Given the description of an element on the screen output the (x, y) to click on. 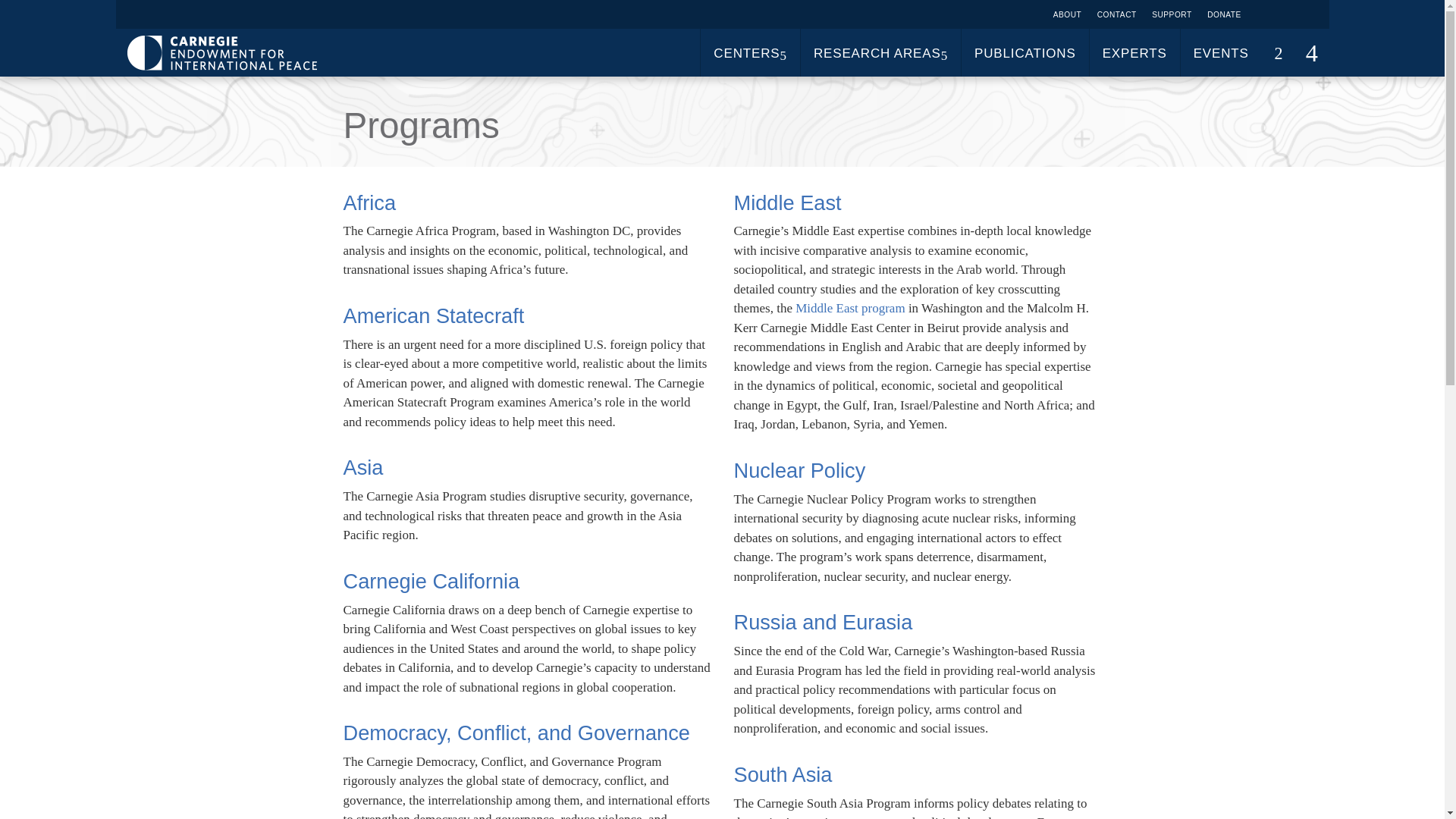
ABOUT (1067, 14)
CONTACT (1116, 14)
SUPPORT (1171, 14)
DONATE (1224, 14)
